Given the description of an element on the screen output the (x, y) to click on. 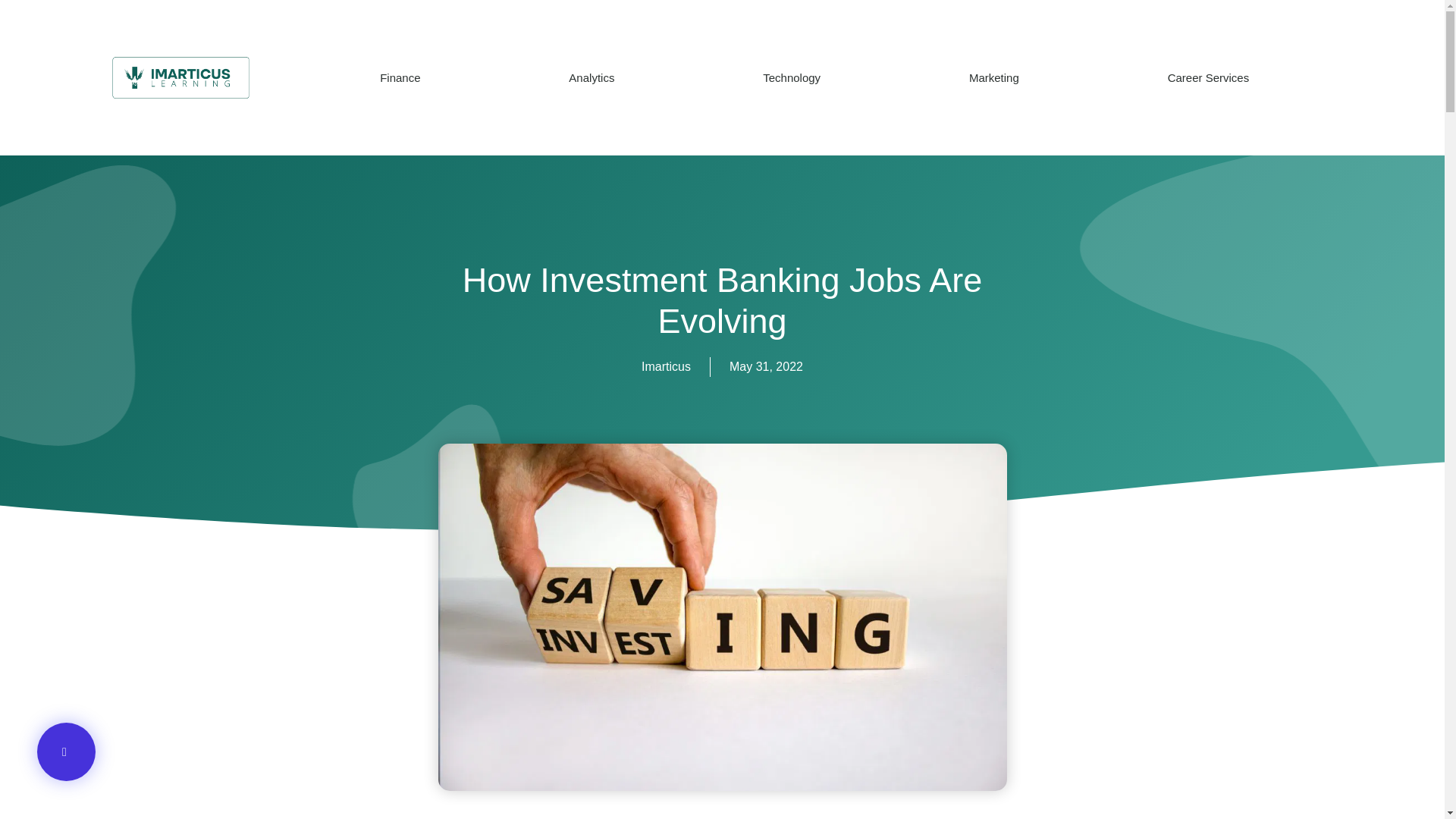
Finance (400, 77)
Technology (791, 77)
Analytics (591, 77)
Career Services (1208, 77)
Imarticus (666, 366)
May 31, 2022 (766, 366)
Marketing (994, 77)
